Given the description of an element on the screen output the (x, y) to click on. 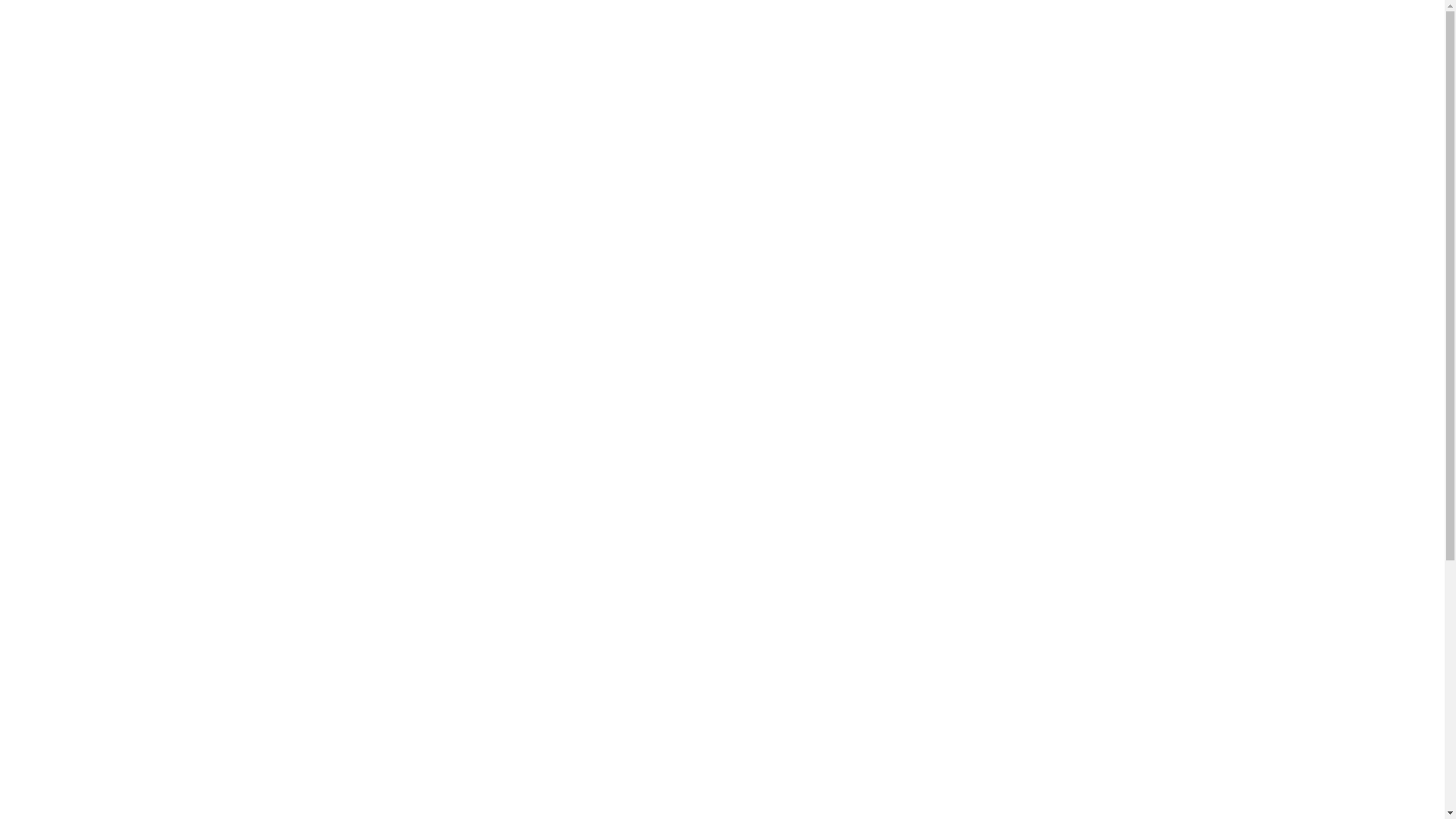
+375 (25) 950-77-91 Element type: text (84, 402)
+375 (25) 950-77-91 Element type: text (115, 335)
+375 (29) 756-96-15 Element type: text (117, 308)
+375(25) 950-77-91 Element type: text (85, 282)
+375 (29) 915-82-92 Element type: text (134, 322)
+375 (29) 915-82-92 Element type: text (104, 388)
+375 (29) 756-96-15 Element type: text (87, 375)
+375(29) 756-96-15 Element type: text (85, 255)
Close Element type: hover (12, 16)
FAQ Element type: text (586, 190)
+375(29) 915-82-92 Element type: text (85, 269)
